Given the description of an element on the screen output the (x, y) to click on. 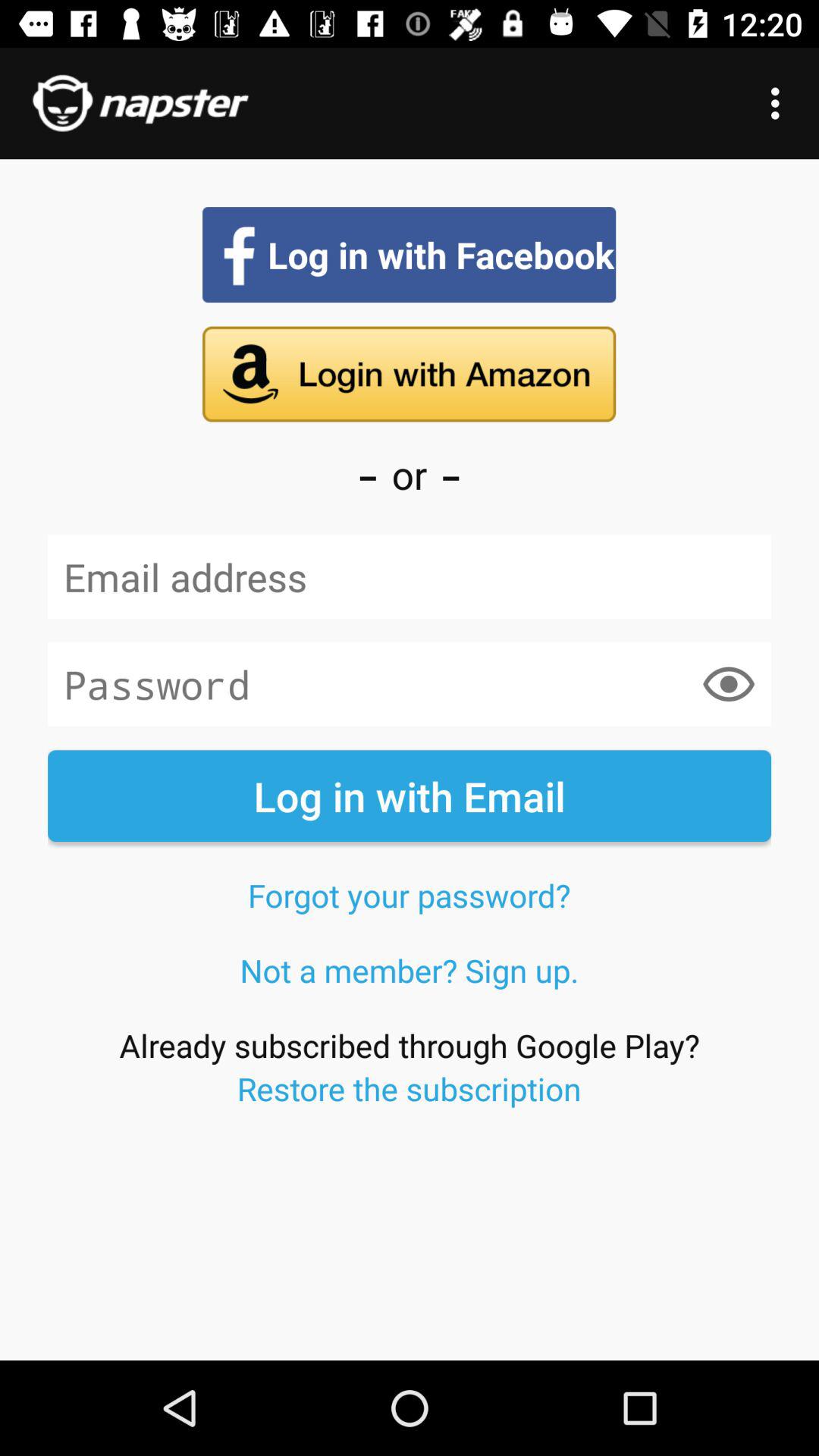
jump to the restore the subscription (409, 1088)
